Given the description of an element on the screen output the (x, y) to click on. 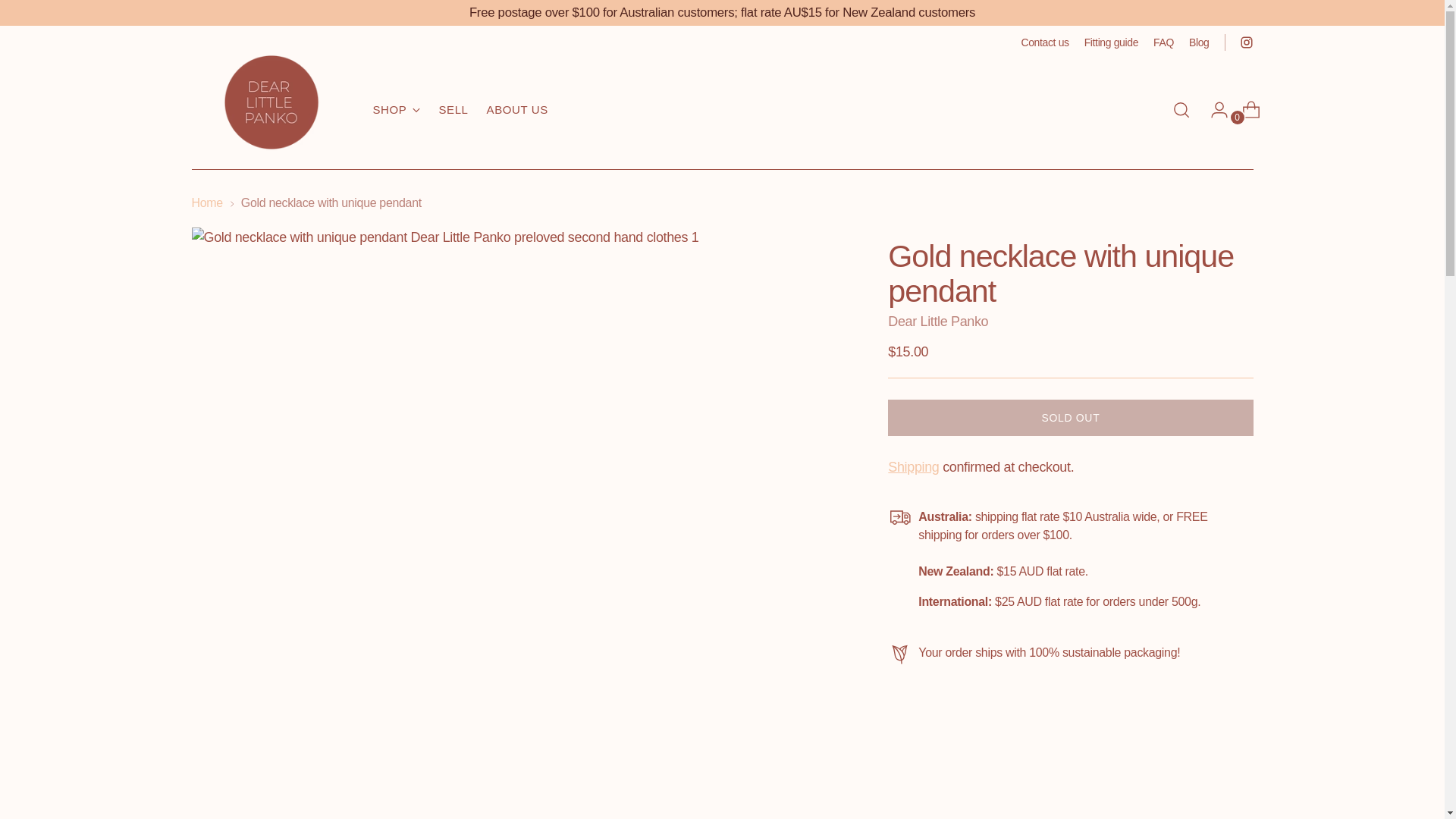
SHOP (396, 109)
Fitting guide (1111, 41)
Dear Little Panko (938, 321)
ABOUT US (517, 109)
Contact us (1044, 41)
0 (1245, 110)
Dear Little Panko on Instagram (459, 109)
